Given the description of an element on the screen output the (x, y) to click on. 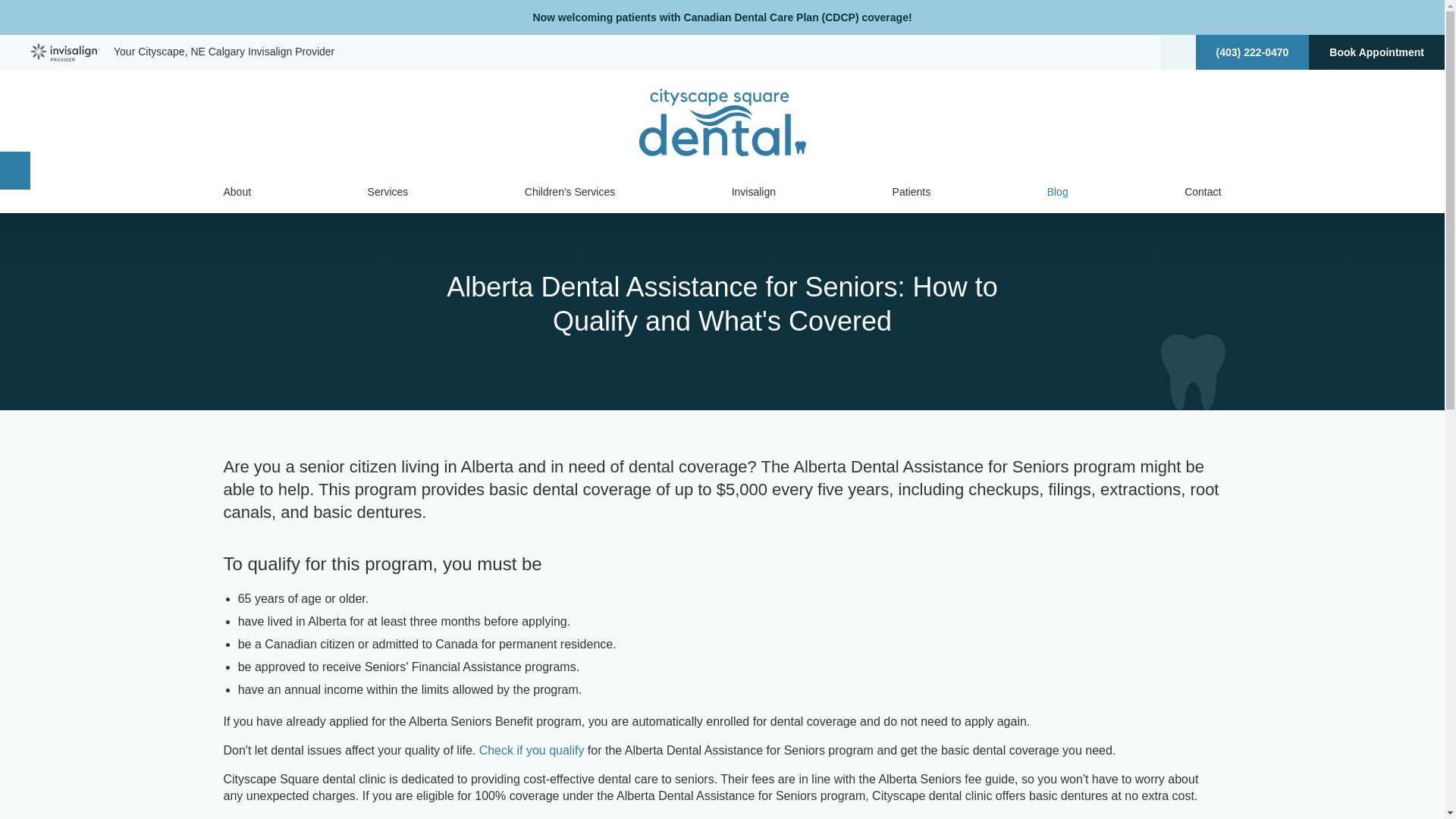
Your Cityscape, NE Calgary Invisalign Provider (182, 52)
Open Search Box (1177, 52)
About (237, 191)
